Given the description of an element on the screen output the (x, y) to click on. 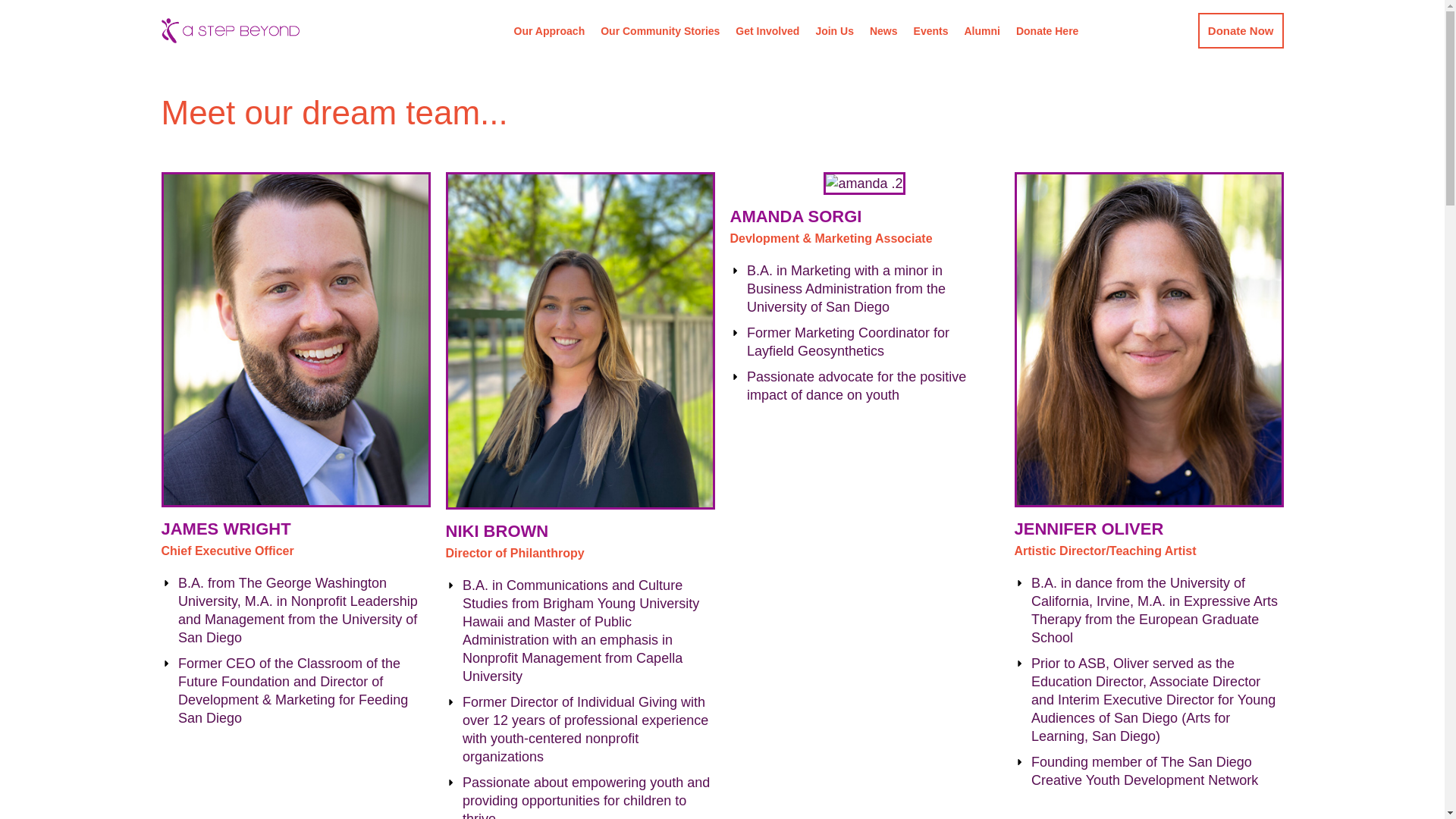
Alumni (980, 30)
News (883, 30)
Donate Here (1047, 30)
Join Us (834, 30)
Our Approach (549, 30)
Our Community Stories (659, 30)
Events (931, 30)
Get Involved (767, 30)
amanda .2 (864, 182)
